Given the description of an element on the screen output the (x, y) to click on. 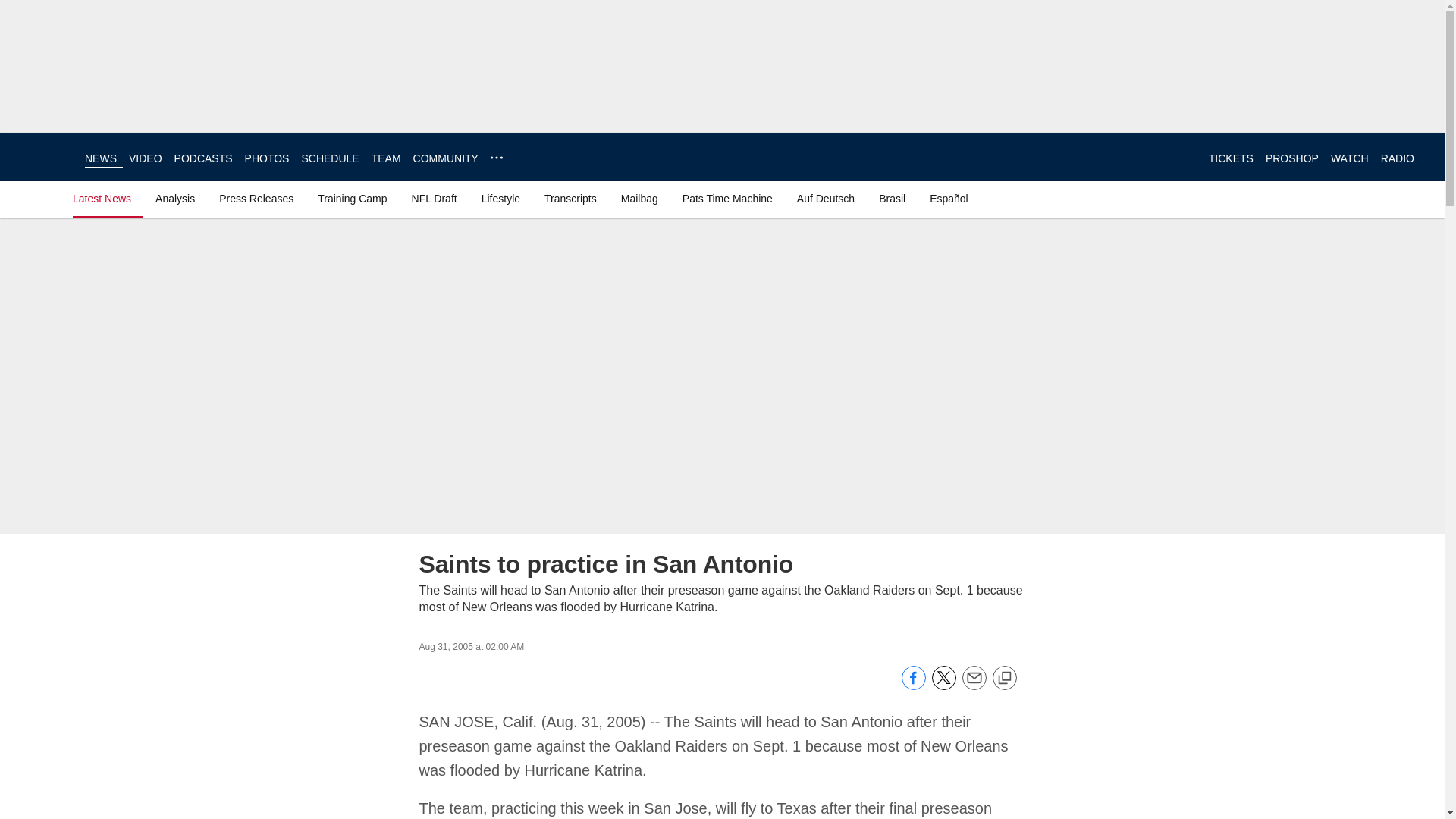
Pats Time Machine (727, 198)
WATCH (1349, 158)
... (496, 157)
Press Releases (255, 198)
RADIO (1396, 158)
PHOTOS (266, 158)
COMMUNITY (446, 158)
PROSHOP (1292, 158)
NFL Draft (434, 198)
SCHEDULE (329, 158)
